Given the description of an element on the screen output the (x, y) to click on. 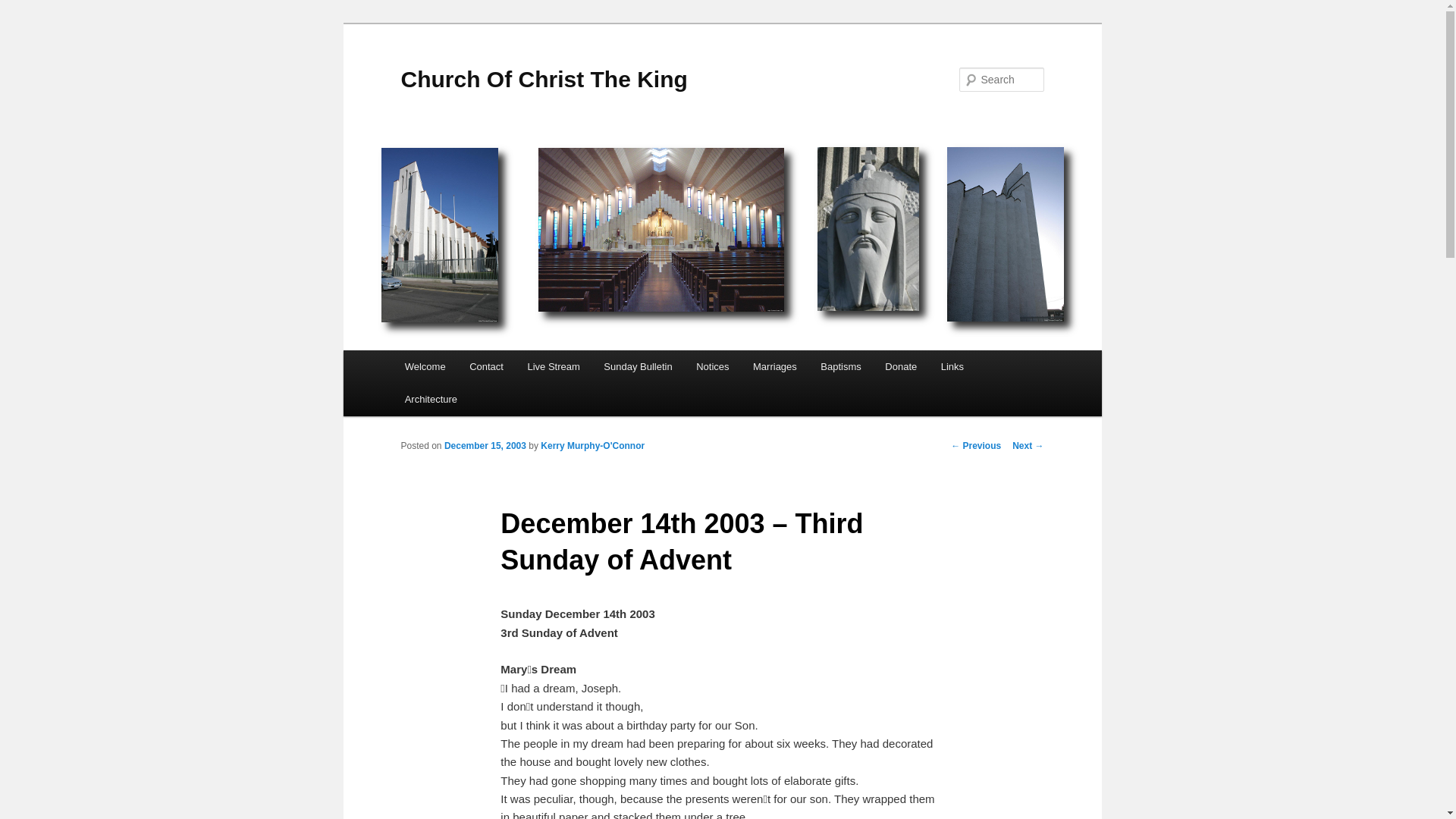
View all posts by Kerry Murphy-O'Connor (592, 445)
December 15, 2003 (484, 445)
Kerry Murphy-O'Connor (592, 445)
Links (951, 366)
Architecture (430, 399)
Search (24, 8)
Church Of Christ The King (543, 78)
Welcome (425, 366)
Live Stream (553, 366)
